Given the description of an element on the screen output the (x, y) to click on. 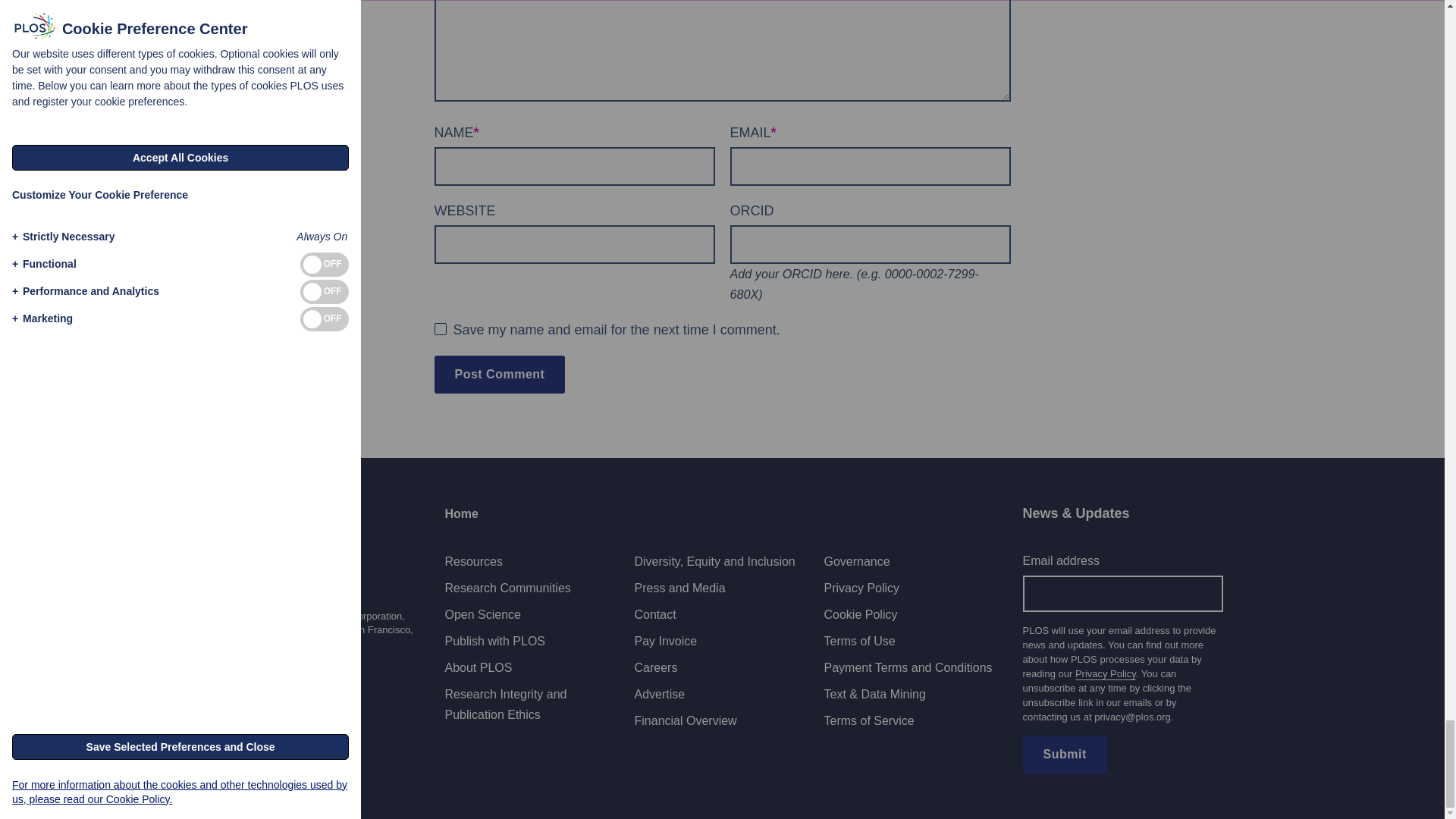
Post Comment (498, 374)
Submit (1064, 754)
yes (439, 328)
